Given the description of an element on the screen output the (x, y) to click on. 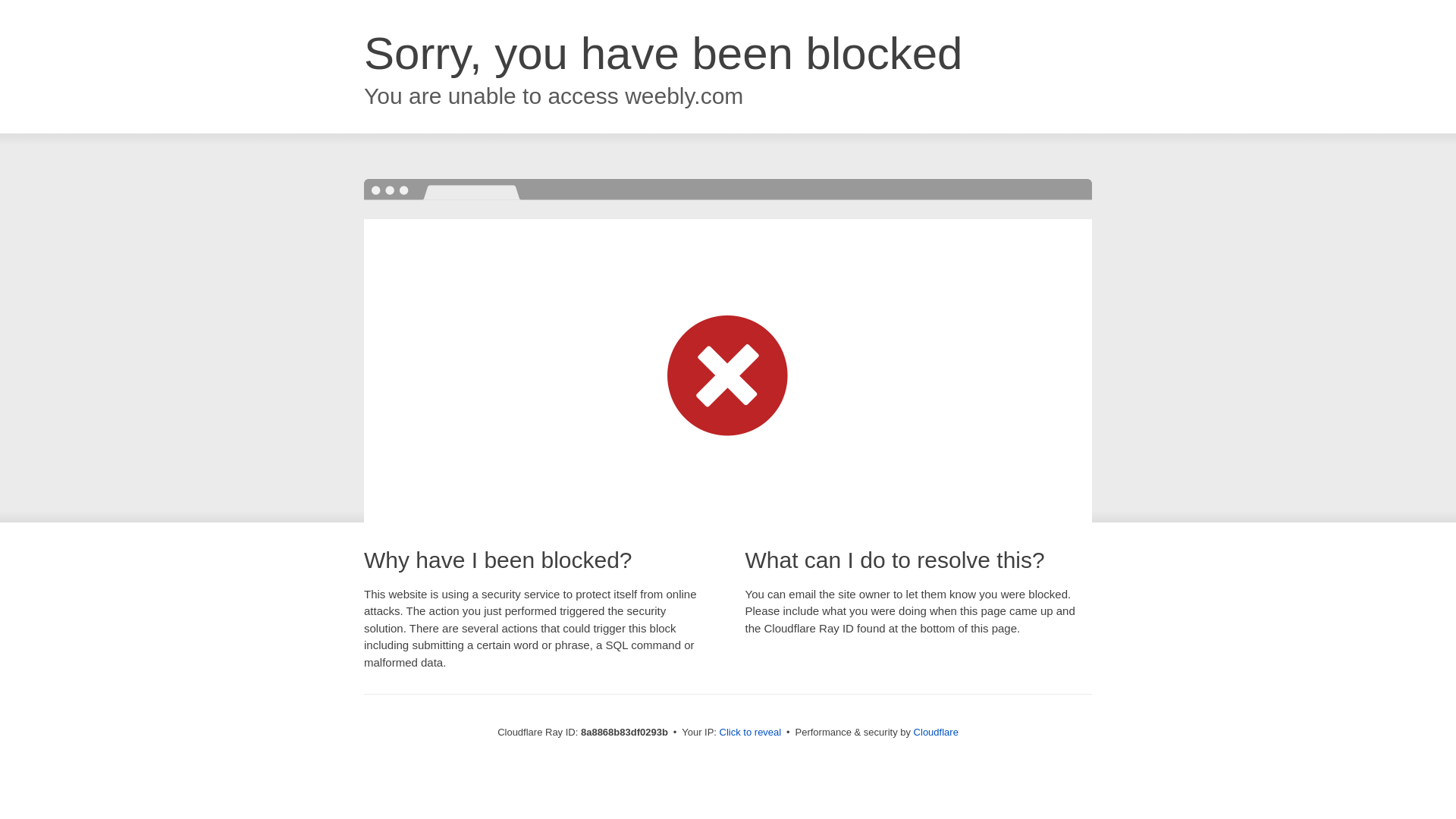
Cloudflare (936, 731)
Click to reveal (750, 732)
